Given the description of an element on the screen output the (x, y) to click on. 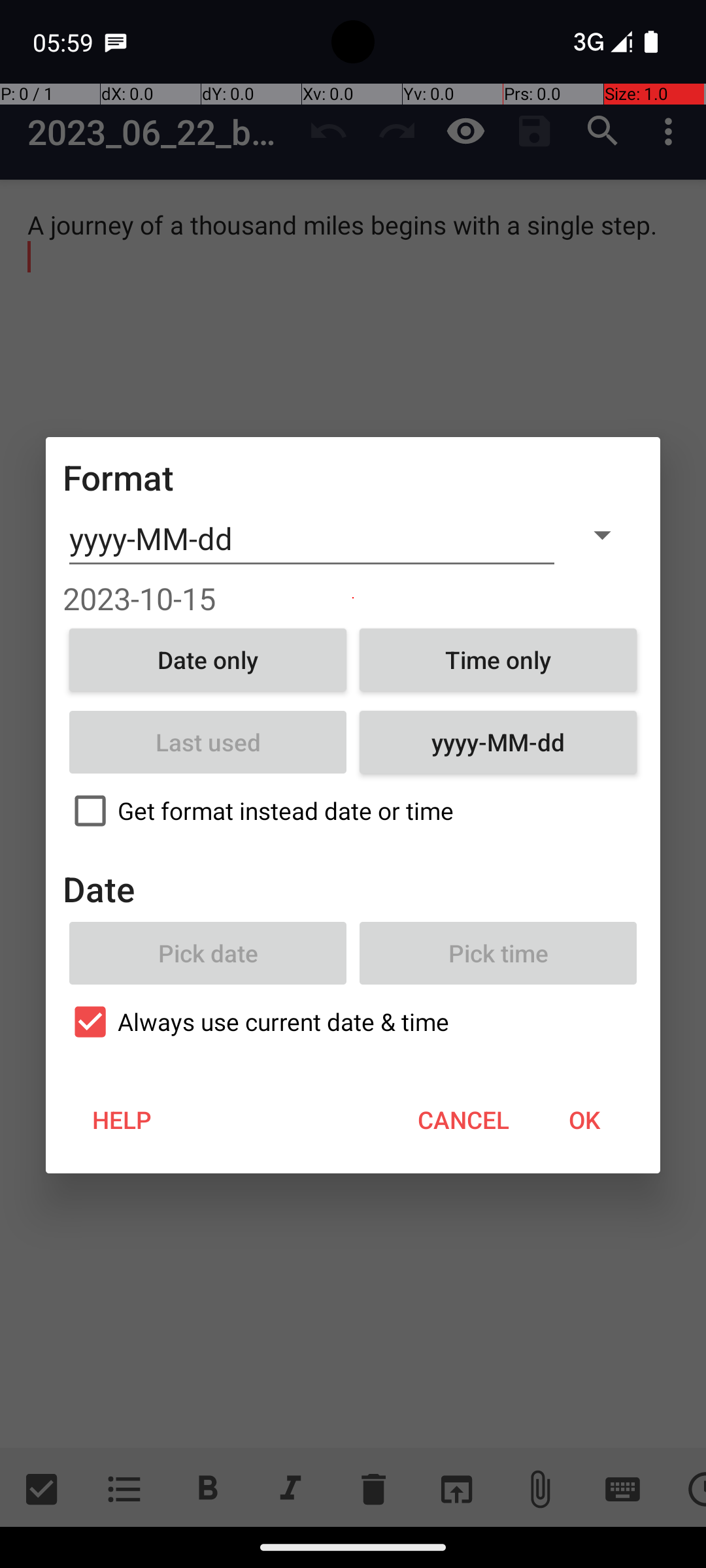
2023-10-15 Element type: android.widget.TextView (352, 597)
05:59 Element type: android.widget.TextView (64, 41)
